Given the description of an element on the screen output the (x, y) to click on. 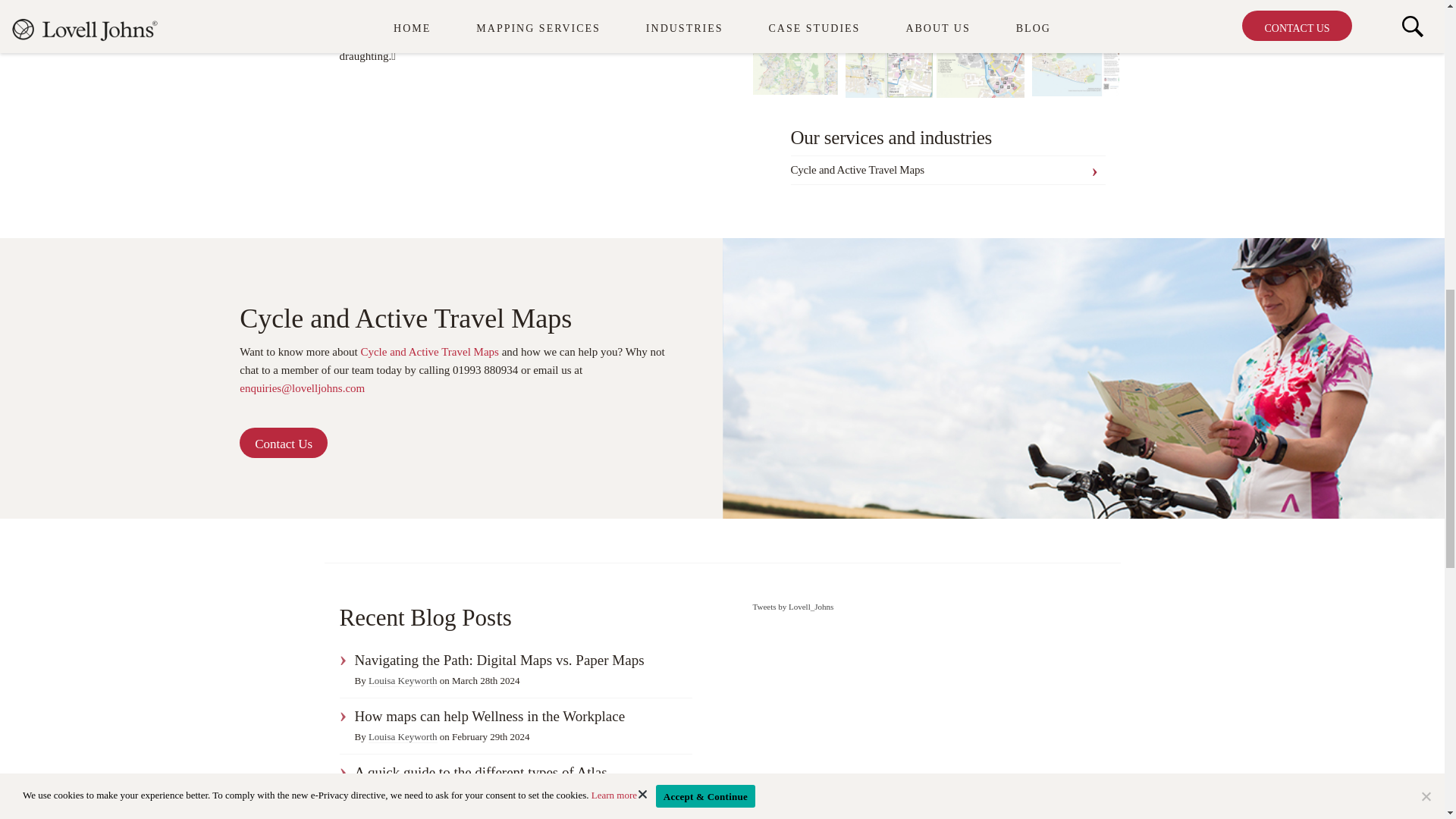
Cycle and Active Travel Maps (947, 170)
